Given the description of an element on the screen output the (x, y) to click on. 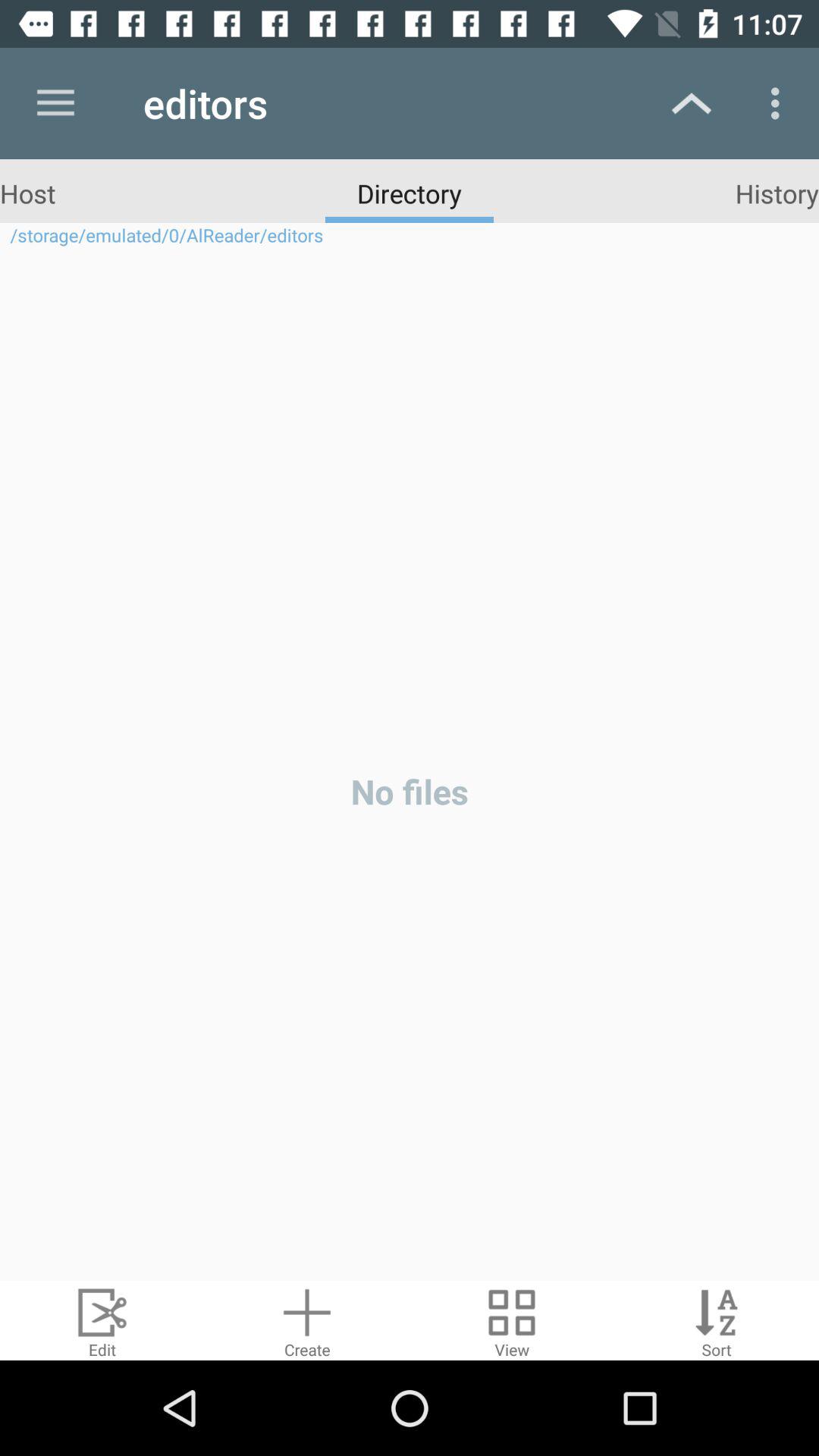
create file (306, 1320)
